Given the description of an element on the screen output the (x, y) to click on. 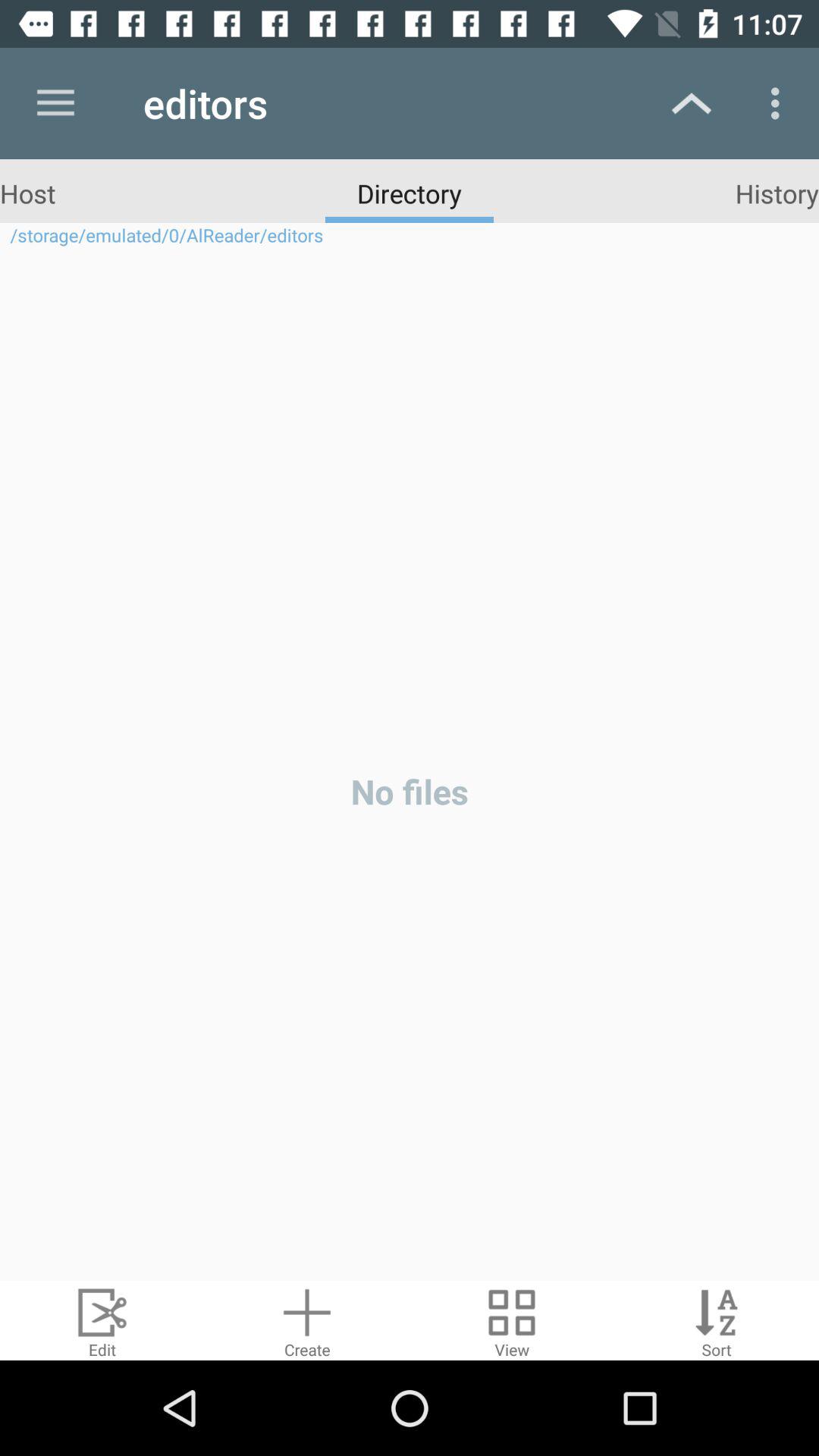
create file (306, 1320)
